Given the description of an element on the screen output the (x, y) to click on. 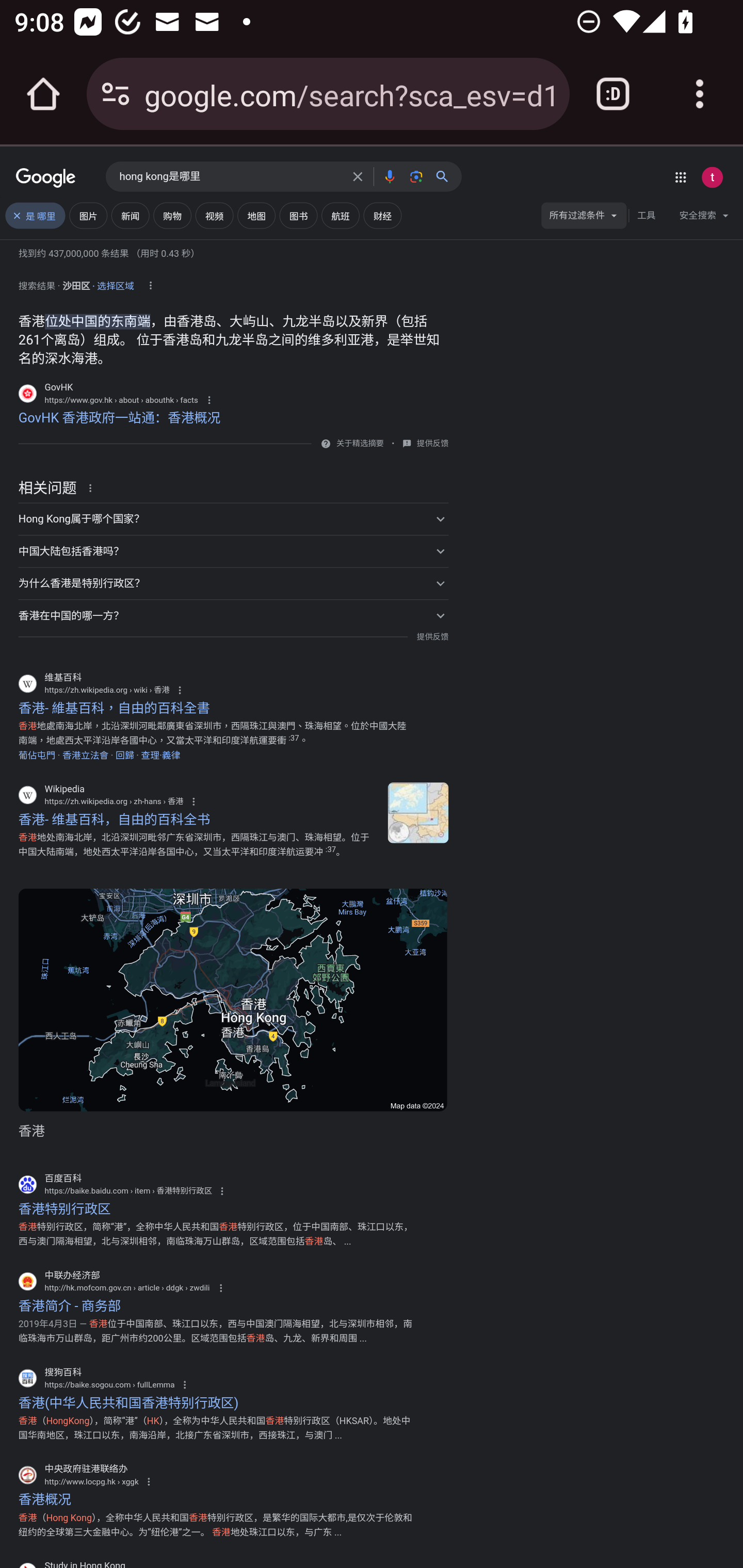
Open the home page (43, 93)
Connection is secure (115, 93)
Switch or close tabs (612, 93)
Customize and control Google Chrome (699, 93)
清除 (357, 176)
按语音搜索 (389, 176)
按图搜索 (415, 176)
搜索 (446, 176)
Google 应用 (680, 176)
Google 账号： test appium (testappium002@gmail.com) (712, 176)
Google (45, 178)
hong kong是哪里 (229, 177)
移除“是 哪里” 是 哪里 (35, 215)
图片 (88, 215)
新闻 (129, 215)
购物 (172, 215)
视频 (214, 215)
地图 (256, 215)
图书 (298, 215)
航班 (339, 215)
财经 (382, 215)
所有过滤条件 (583, 217)
工具 (646, 215)
安全搜索 (703, 217)
选择区域 (115, 282)
位置信息使用方式 (149, 285)
关于精选摘要 (359, 443)
提供反馈 (432, 443)
关于这条结果的详细信息 (93, 486)
Hong Kong属于哪个国家？ (232, 518)
中国大陆包括香港吗？ (232, 550)
为什么香港是特别行政区？ (232, 583)
香港在中国的哪一方？ (232, 614)
提供反馈 (432, 636)
葡佔屯門 (36, 754)
香港立法會 (84, 754)
回歸 (124, 754)
查理·義律 (160, 754)
%E9%A6%99%E6%B8%AF (417, 812)
